Given the description of an element on the screen output the (x, y) to click on. 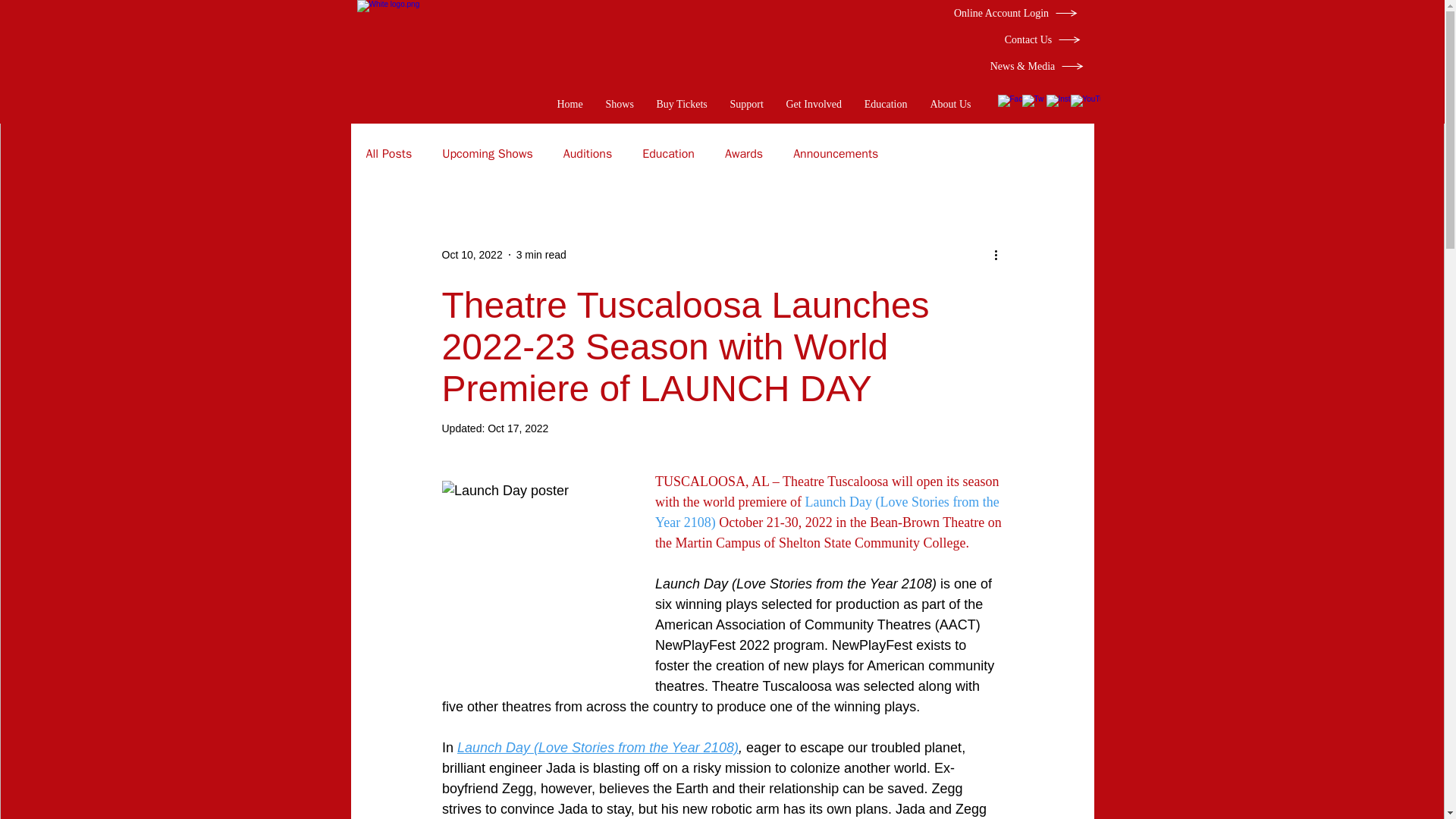
Home (570, 104)
Support (746, 104)
Get Involved (813, 104)
About Us (950, 104)
Buy Tickets (681, 104)
Education (884, 104)
3 min read (541, 254)
Oct 10, 2022 (471, 254)
Oct 17, 2022 (517, 428)
